Given the description of an element on the screen output the (x, y) to click on. 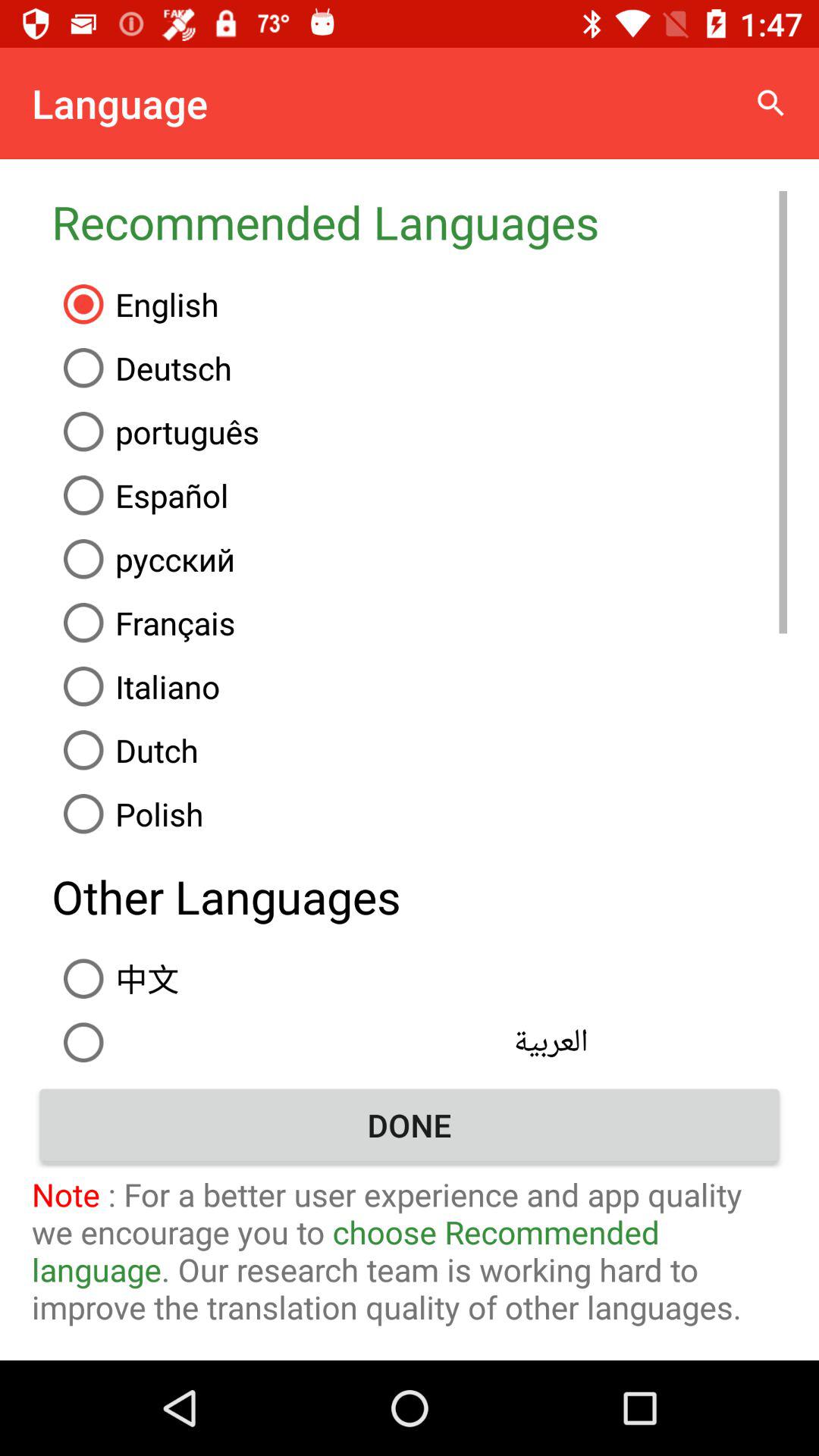
open item below the english (419, 367)
